Given the description of an element on the screen output the (x, y) to click on. 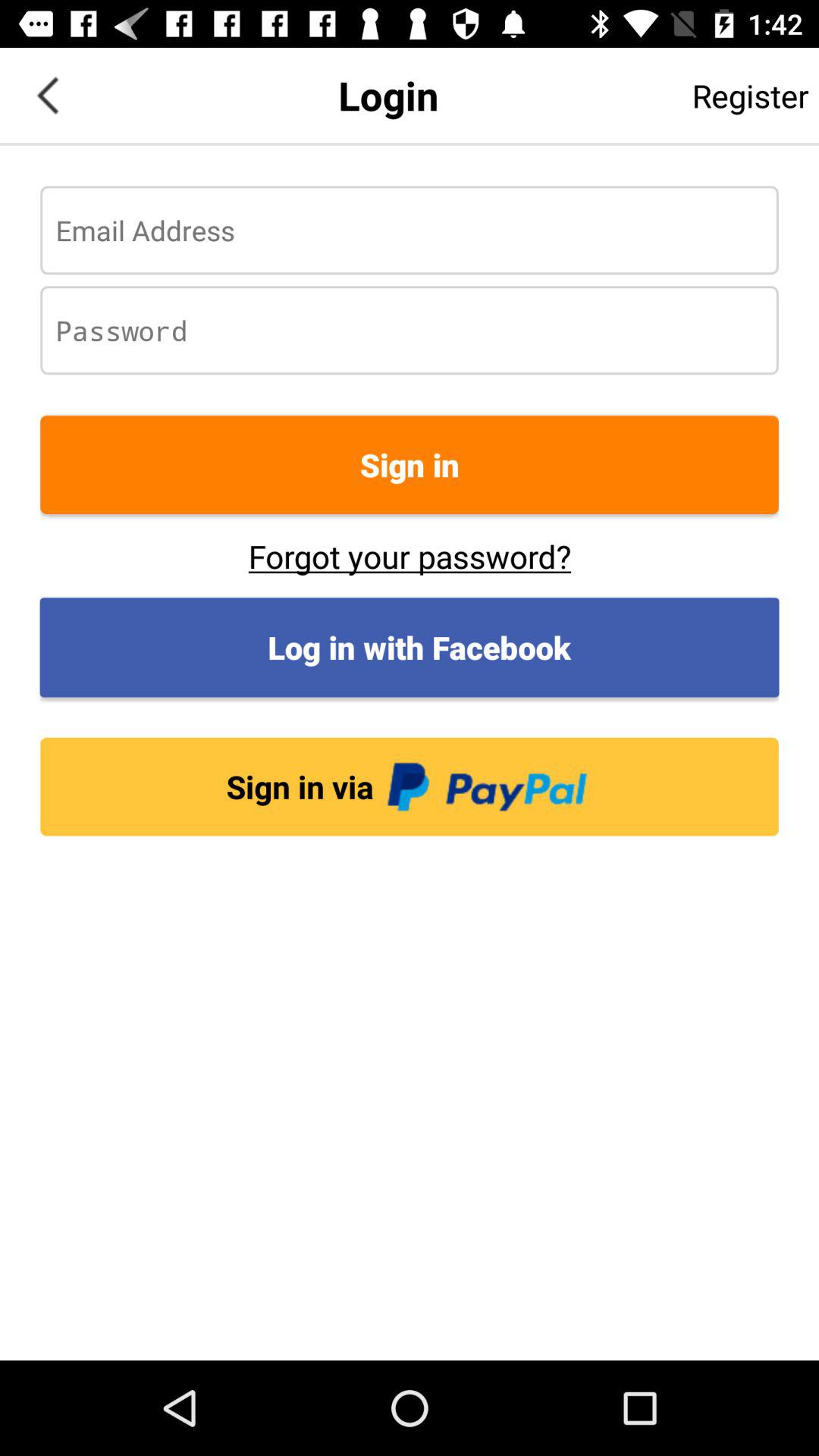
swipe until forgot your password? icon (409, 555)
